Given the description of an element on the screen output the (x, y) to click on. 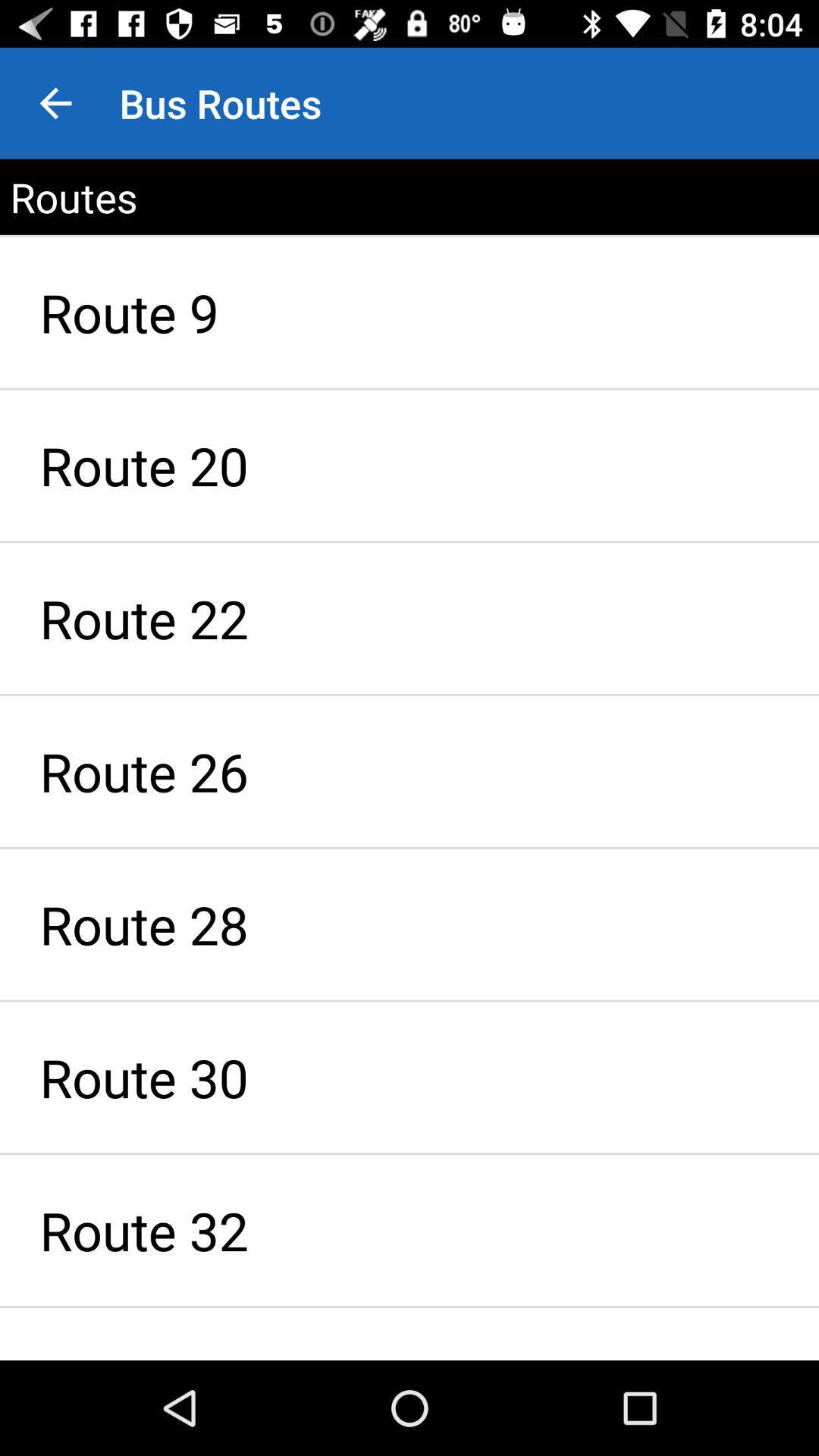
tap item below the route 32 item (409, 1334)
